Given the description of an element on the screen output the (x, y) to click on. 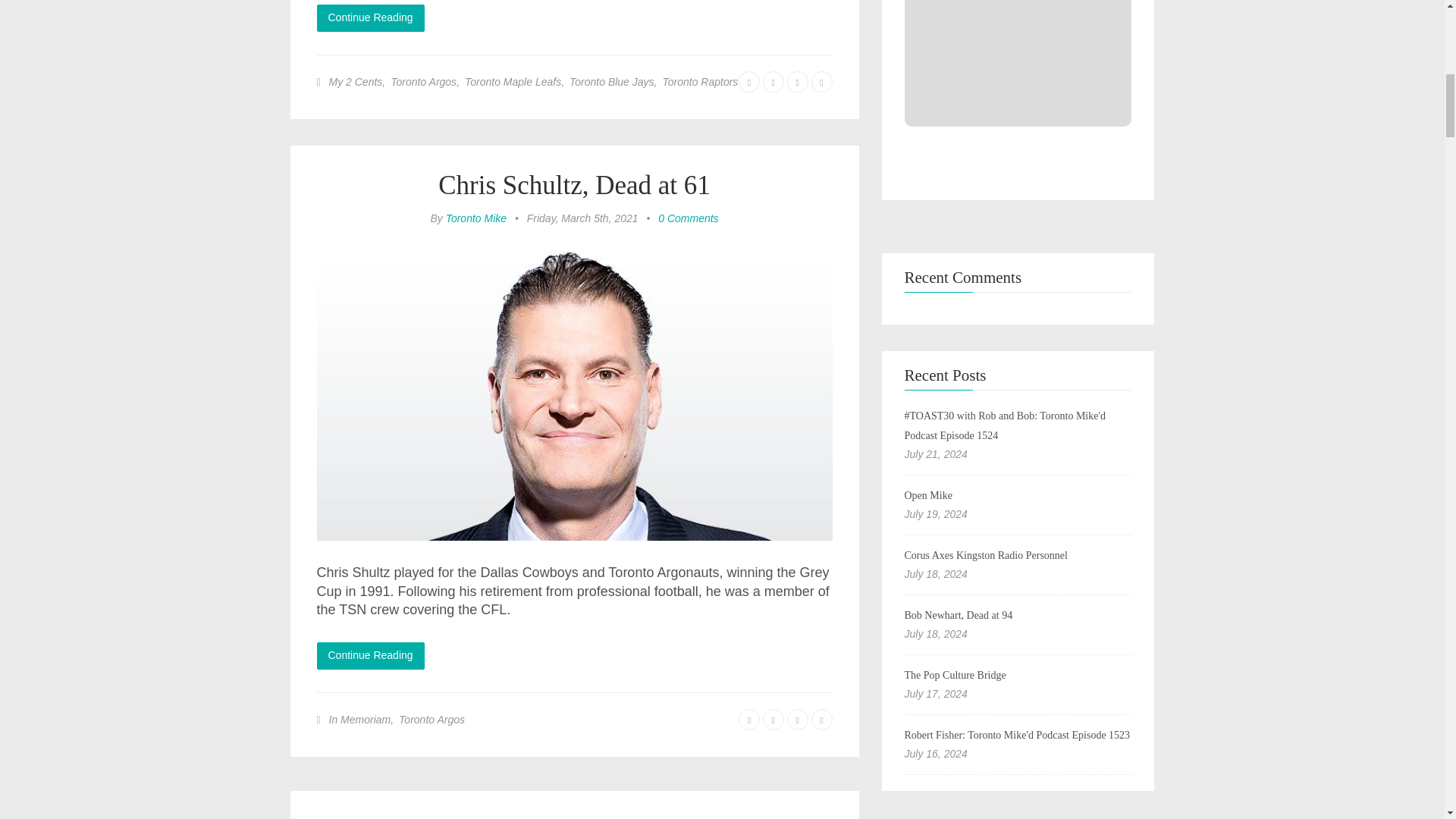
Continue Reading (371, 655)
Chris Schultz, Dead at 61 (574, 184)
Continue Reading (371, 17)
Toronto Argos (431, 719)
Toronto Blue Jays (611, 81)
0 Comments (687, 218)
My 2 Cents (355, 81)
Toronto Maple Leafs (512, 81)
Toronto Mike (475, 218)
Toronto Argos (423, 81)
Toronto Raptors (700, 81)
New Argos Logo (574, 817)
In Memoriam (360, 719)
